Given the description of an element on the screen output the (x, y) to click on. 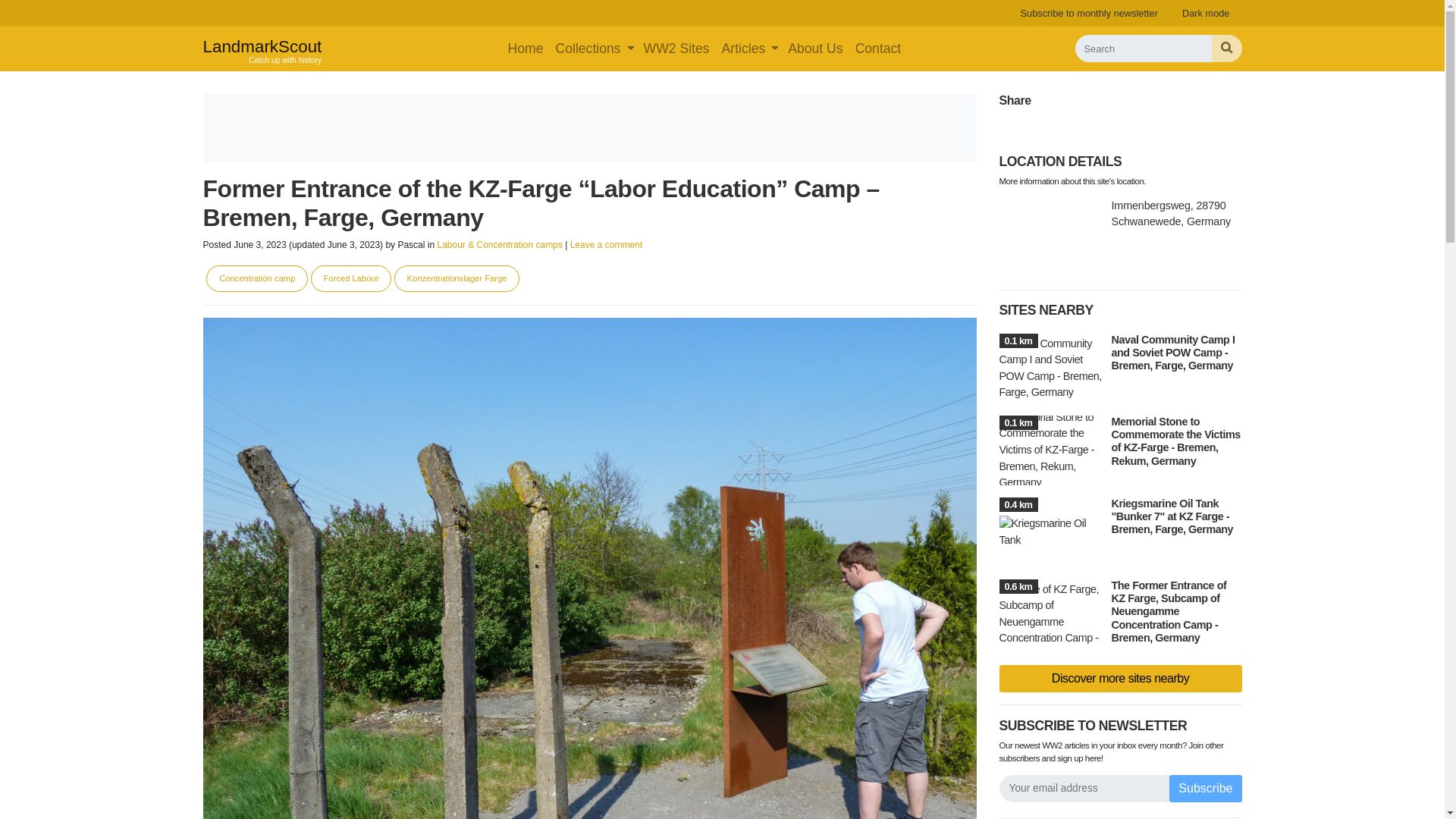
Home (526, 48)
About Us (814, 48)
Subscribe (1205, 788)
Articles (743, 48)
LandmarkScout (262, 48)
WW2 Sites (676, 48)
Subscribe to monthly newsletter (262, 48)
WW2 Sites (1089, 13)
Home (676, 48)
